Given the description of an element on the screen output the (x, y) to click on. 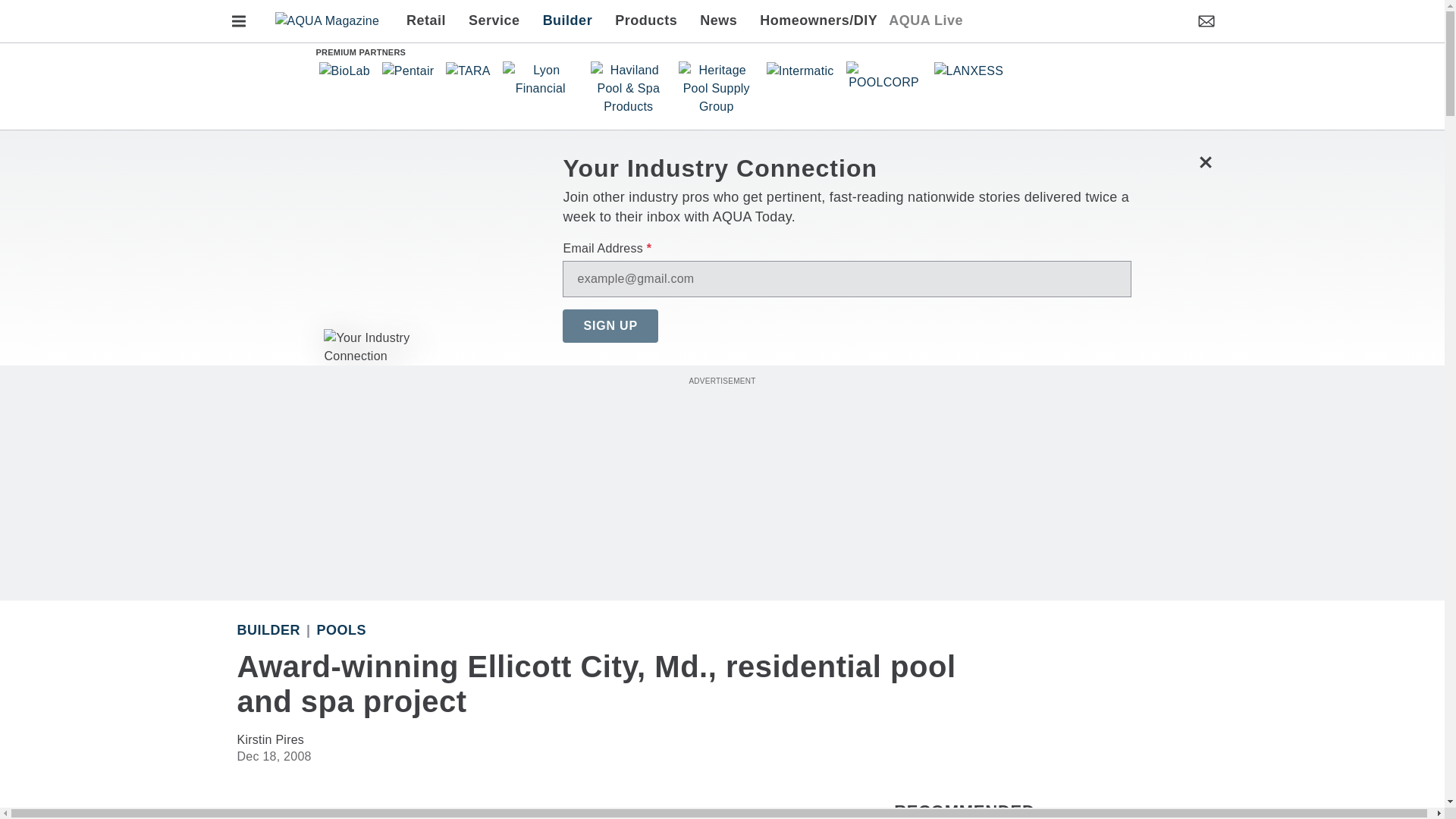
Service (494, 21)
Products (646, 21)
Retail (431, 21)
AQUA Live (925, 21)
TARA (467, 70)
Pentair (407, 70)
BioLab (343, 70)
News (718, 21)
Builder (567, 21)
